Given the description of an element on the screen output the (x, y) to click on. 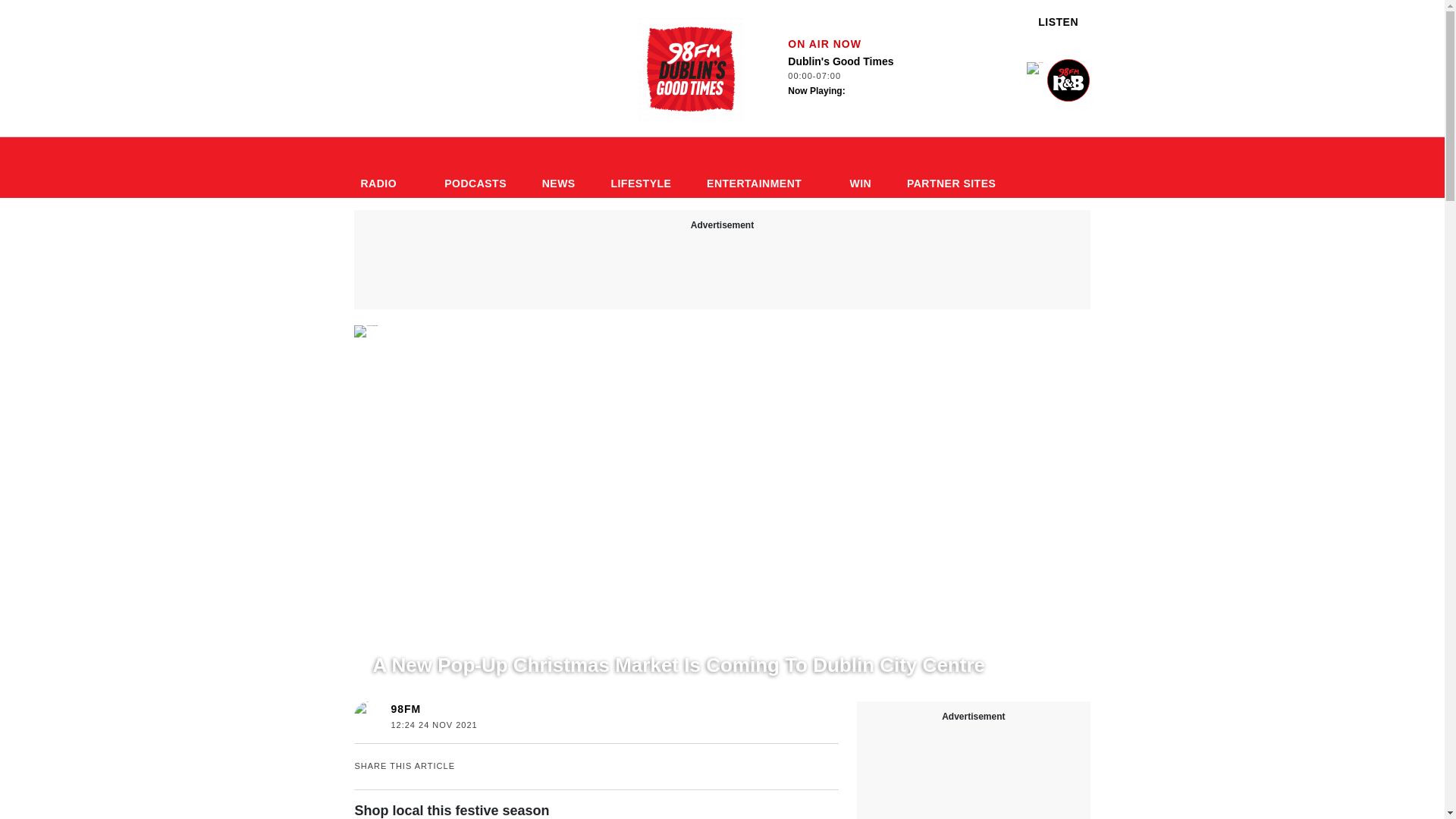
Dublin's Good Times (690, 68)
RADIO (383, 167)
WHAT'S ON (429, 635)
ENTERTAINMENT (760, 167)
Podcasts (860, 76)
PARTNER SITES (475, 167)
98FM (957, 167)
PODCASTS (405, 708)
Lifestyle (475, 167)
LIFESTYLE (640, 167)
